Given the description of an element on the screen output the (x, y) to click on. 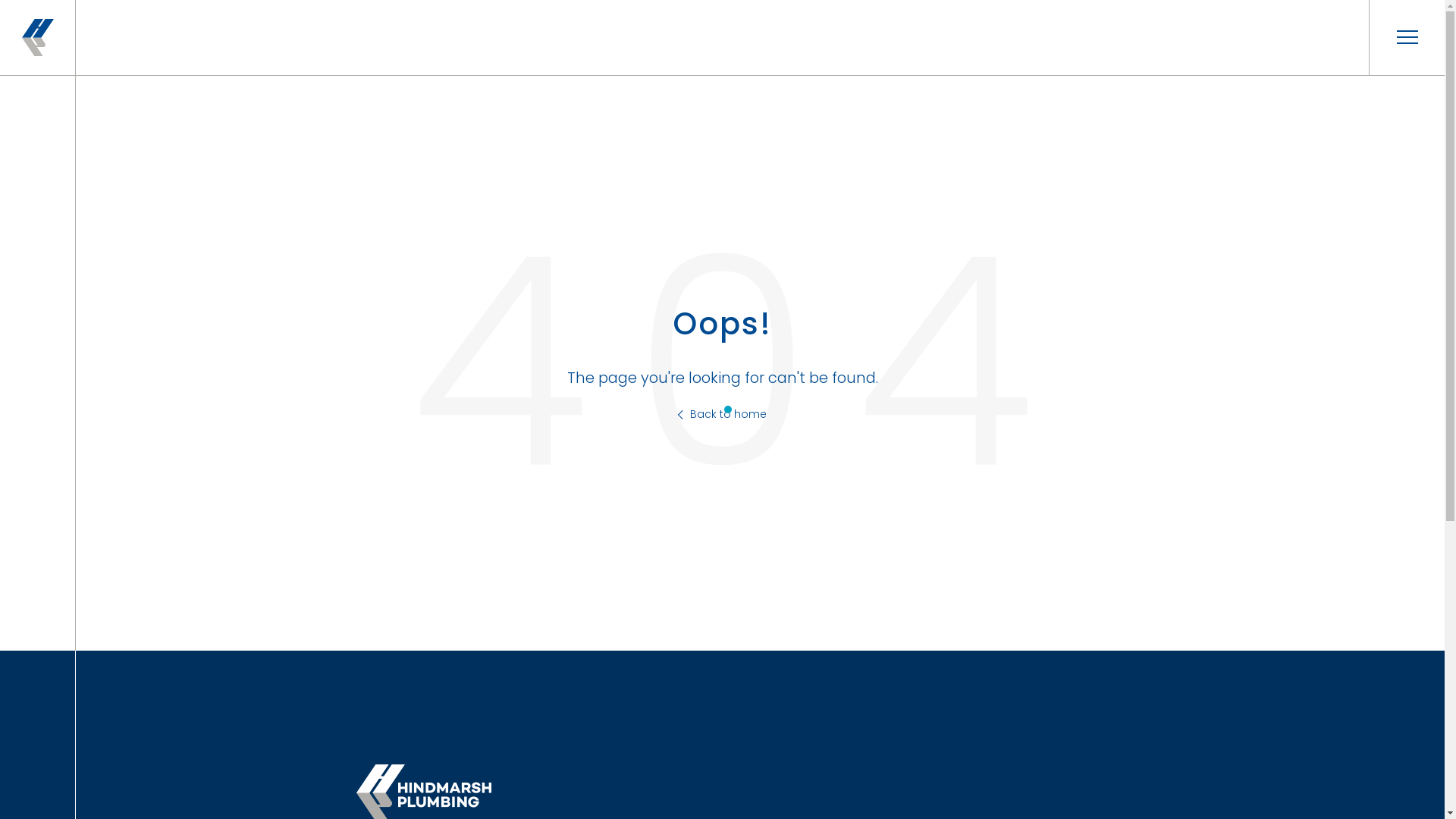
Back to home Element type: text (721, 413)
